Given the description of an element on the screen output the (x, y) to click on. 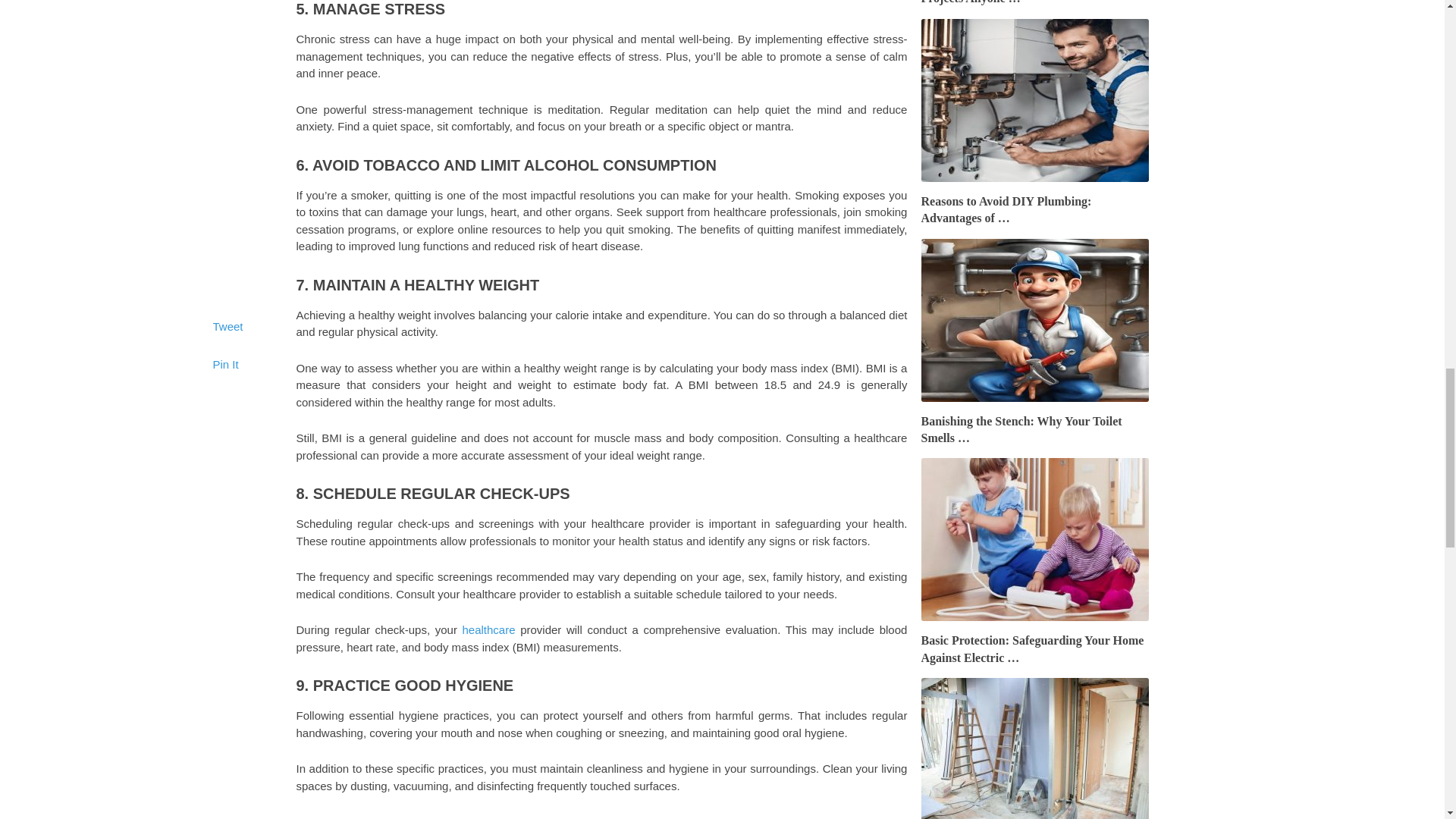
healthcare (489, 629)
